Given the description of an element on the screen output the (x, y) to click on. 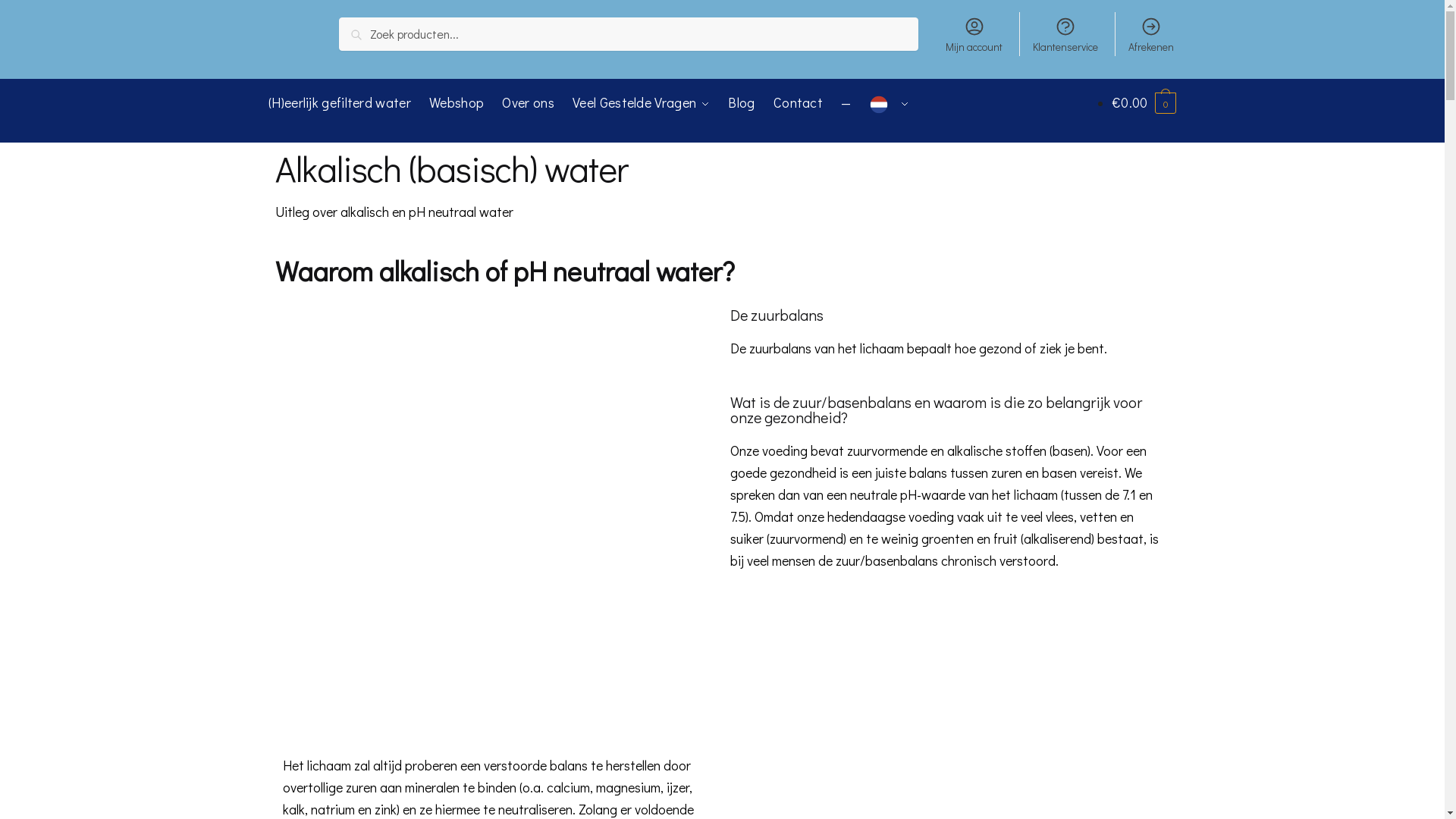
Afrekenen Element type: text (1151, 34)
Zoeken Element type: text (361, 27)
Nederlands Element type: hover (889, 102)
Mijn account Element type: text (974, 34)
Contact Element type: text (797, 102)
Veel Gestelde Vragen Element type: text (640, 102)
Over ons Element type: text (528, 102)
Webshop Element type: text (456, 102)
Blog Element type: text (741, 102)
Klantenservice Element type: text (1065, 34)
(H)eerlijk gefilterd water Element type: text (343, 102)
